Given the description of an element on the screen output the (x, y) to click on. 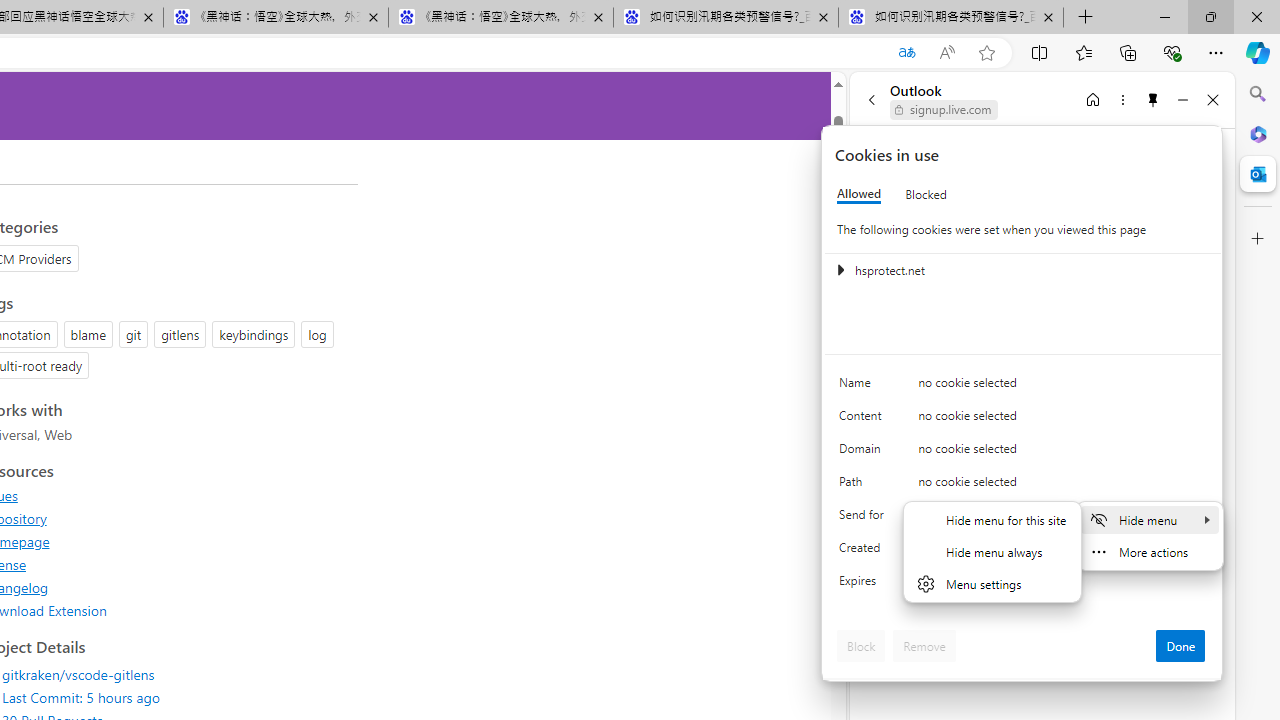
Menu settings (992, 583)
Allowed (859, 193)
Hide menu (992, 563)
Mini menu on text selection (1149, 535)
Hide menu (992, 551)
Content (864, 420)
Send for (864, 518)
Class: c0153 c0157 c0154 (1023, 386)
Blocked (925, 193)
no cookie selected (1062, 585)
Class: c0153 c0157 (1023, 584)
Domain (864, 452)
Block (861, 645)
Hide menu (1149, 519)
Expires (864, 585)
